Given the description of an element on the screen output the (x, y) to click on. 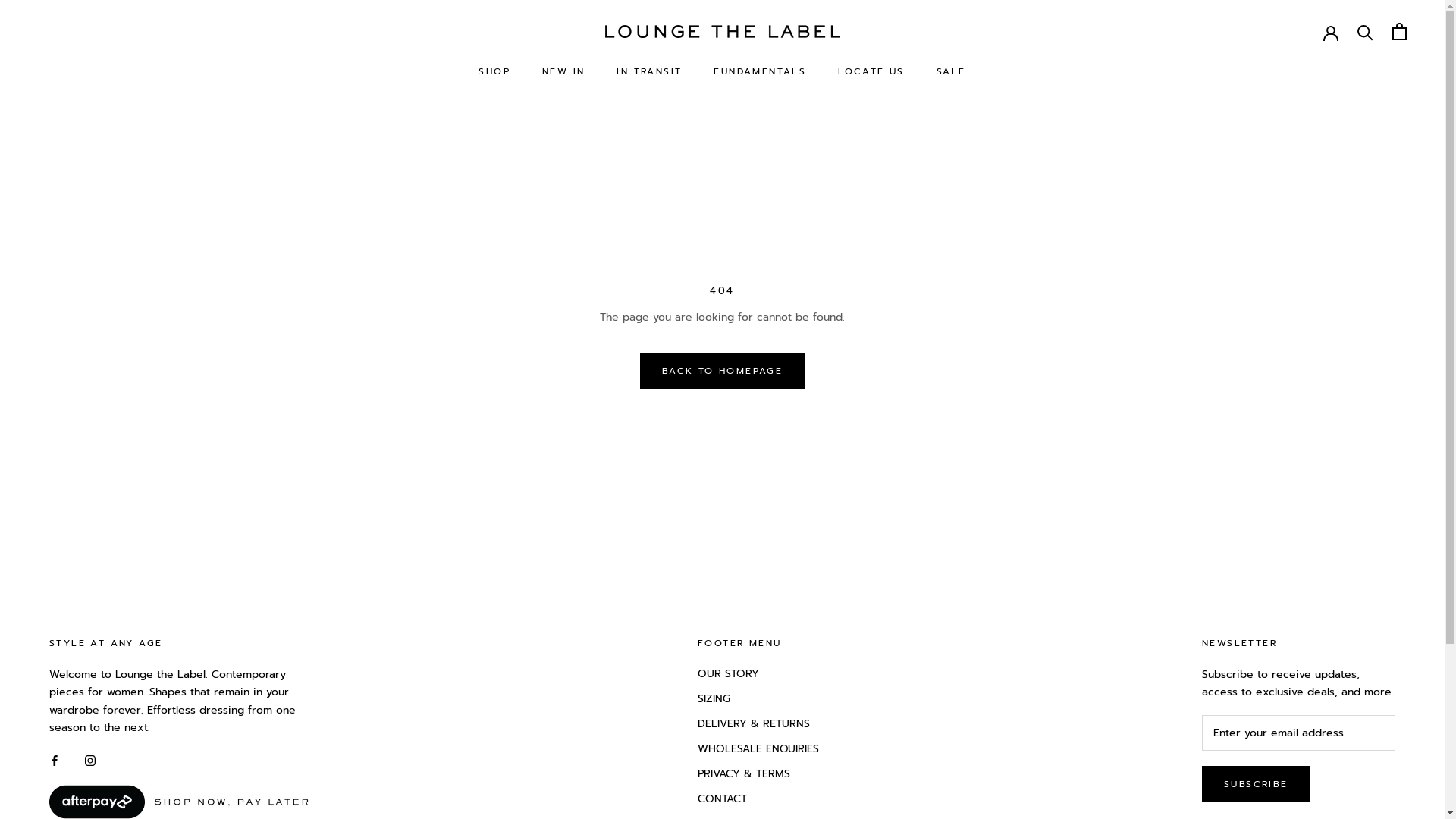
OUR STORY Element type: text (758, 673)
SALE
SALE Element type: text (951, 71)
LOCATE US Element type: text (870, 71)
SUBSCRIBE Element type: text (1255, 783)
WHOLESALE ENQUIRIES Element type: text (758, 748)
NEW IN
NEW IN Element type: text (563, 71)
SHOP
SHOP Element type: text (494, 71)
IN TRANSIT
IN TRANSIT Element type: text (648, 71)
PRIVACY & TERMS Element type: text (758, 773)
BACK TO HOMEPAGE Element type: text (722, 370)
FUNDAMENTALS
FUNDAMENTALS Element type: text (759, 71)
CONTACT Element type: text (758, 798)
SIZING Element type: text (758, 698)
DELIVERY & RETURNS Element type: text (758, 723)
